Given the description of an element on the screen output the (x, y) to click on. 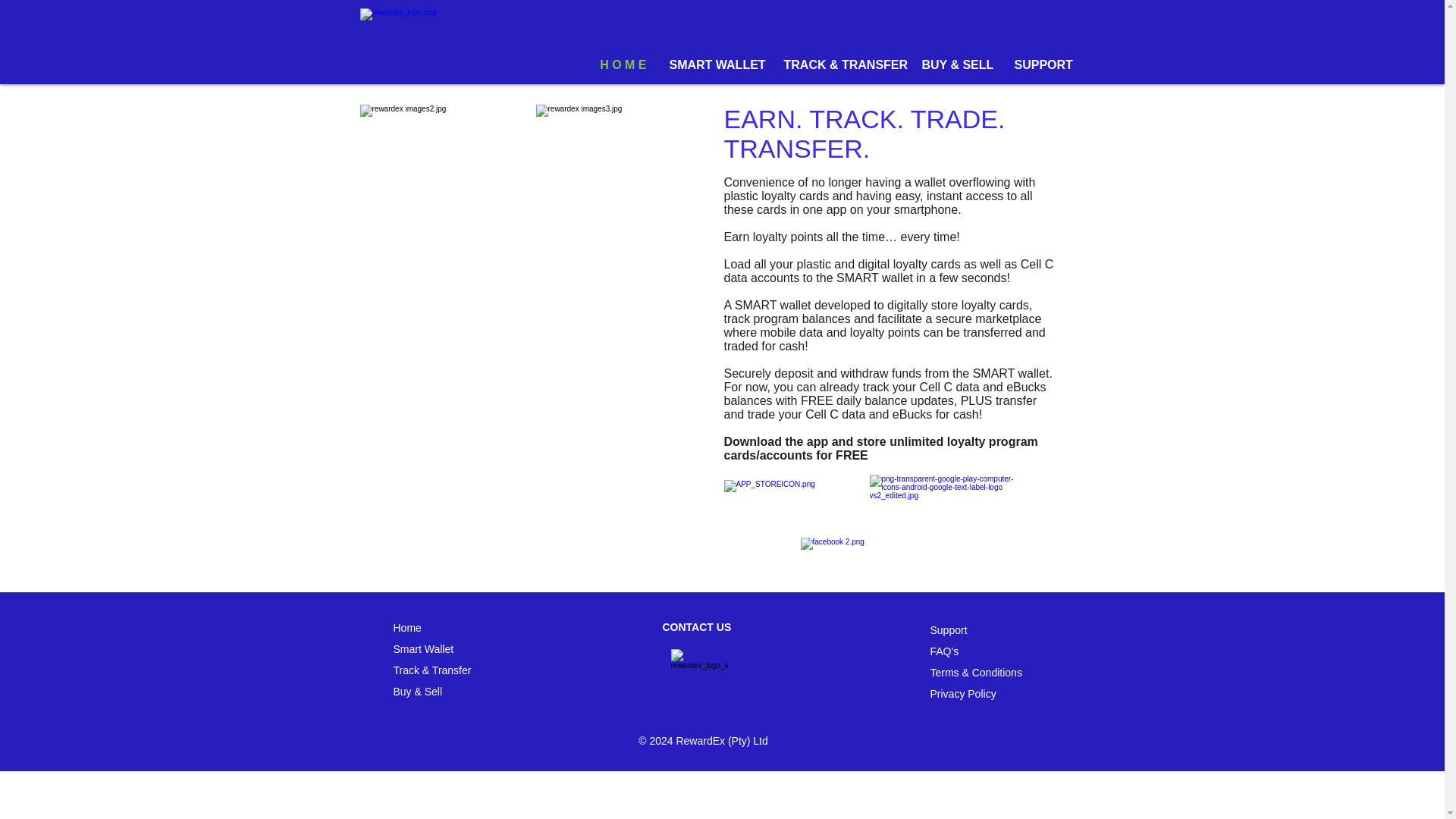
H O M E (621, 64)
FAQ's (944, 651)
CONTACT US (697, 626)
Privacy Policy (962, 693)
SUPPORT (1043, 64)
RewardEx Logo.jpg (454, 40)
SMART WALLET (715, 64)
Support (948, 630)
Smart Wallet (422, 648)
